Given the description of an element on the screen output the (x, y) to click on. 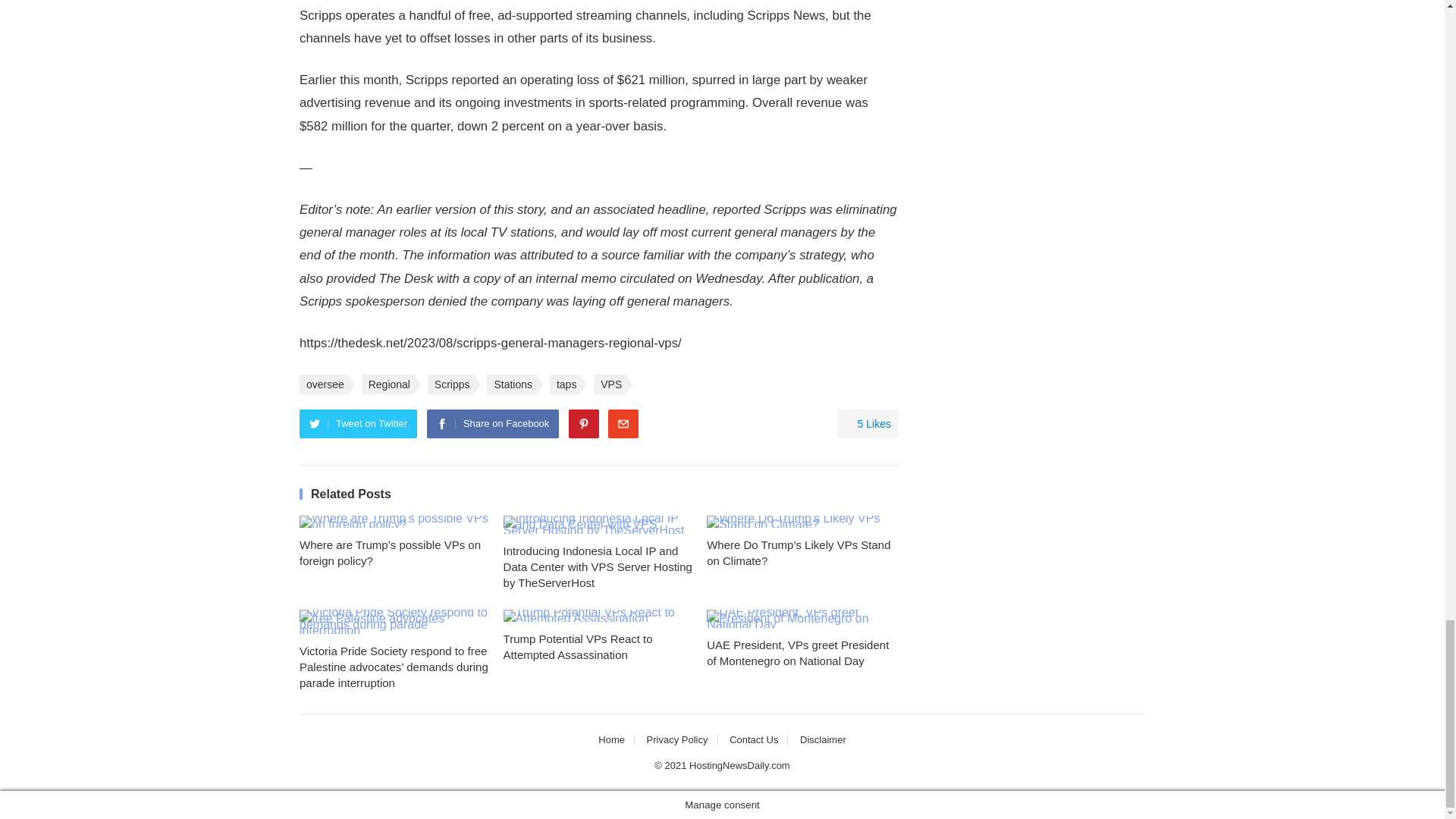
Like this post (867, 423)
Stations (510, 383)
VPS (610, 383)
oversee (323, 383)
Regional (387, 383)
taps (564, 383)
Scripps (451, 383)
Trump Potential VPs React to Attempted Assassination (599, 615)
